Given the description of an element on the screen output the (x, y) to click on. 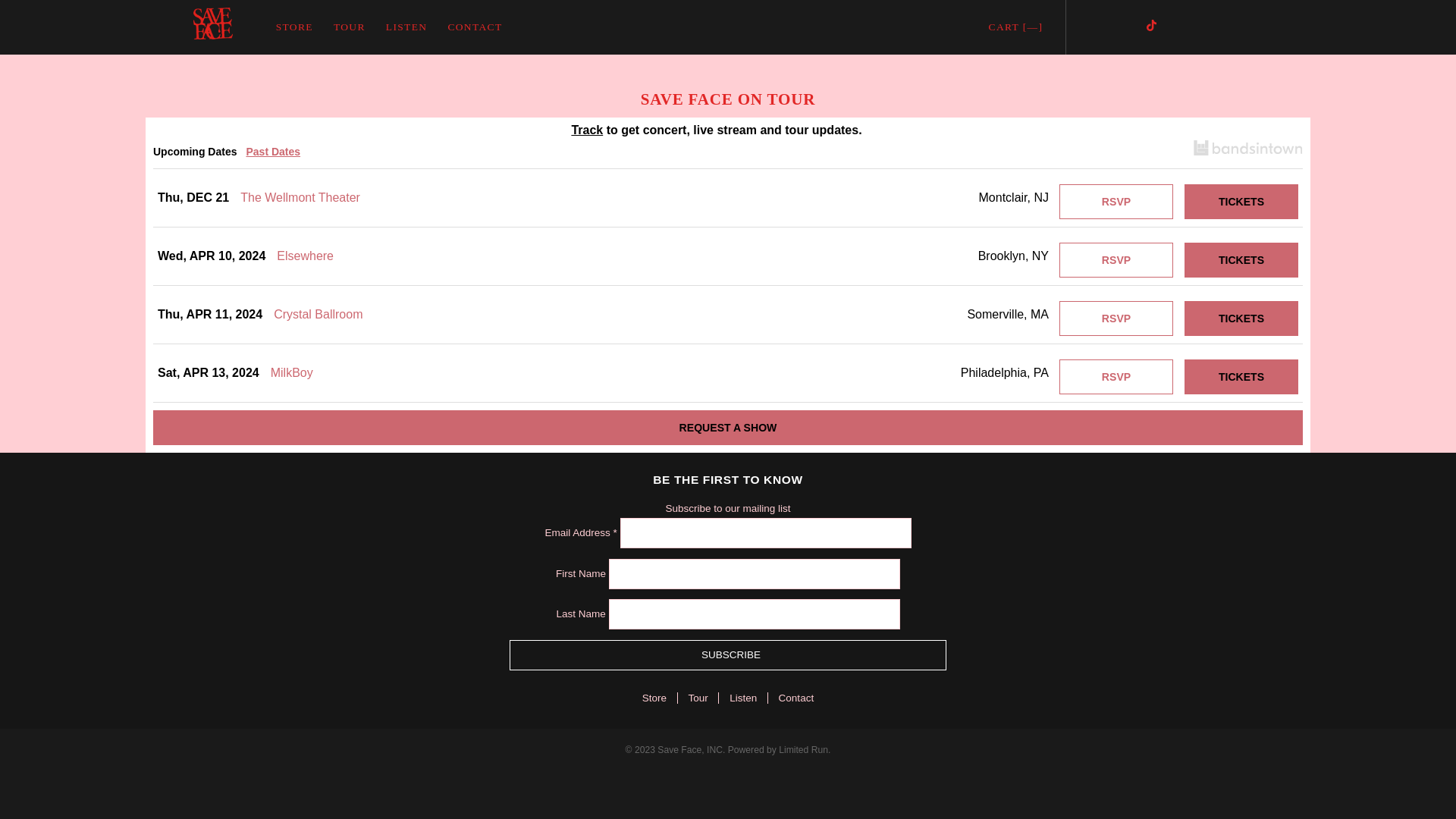
Store Element type: text (663, 697)
Subscribe Element type: text (727, 655)
STORE Element type: text (294, 27)
RSVP Element type: text (1116, 201)
Listen Element type: text (752, 697)
RSVP Element type: text (1116, 318)
TICKETS Element type: text (1241, 201)
TICKETS Element type: text (1241, 259)
BandsintownBandsintown Fist Logo Element type: text (1247, 150)
Thu, APR 11, 2024
Crystal Ballroom
Somerville, MA Element type: text (608, 314)
RSVP Element type: text (1116, 376)
CONTACT Element type: text (474, 27)
TICKETS Element type: text (1241, 318)
TOUR Element type: text (349, 27)
Tour Element type: text (707, 697)
Limited Run Element type: text (803, 749)
Wed, APR 10, 2024
Elsewhere
Brooklyn, NY Element type: text (608, 256)
REQUEST A SHOW Element type: text (727, 427)
Track to get concert, live stream and tour updates. Element type: text (727, 128)
TICKETS Element type: text (1241, 376)
LISTEN Element type: text (406, 27)
RSVP Element type: text (1116, 259)
Contact Element type: text (796, 697)
Thu, DEC 21
The Wellmont Theater
Montclair, NJ Element type: text (608, 197)
Sat, APR 13, 2024
MilkBoy
Philadelphia, PA Element type: text (608, 372)
